Given the description of an element on the screen output the (x, y) to click on. 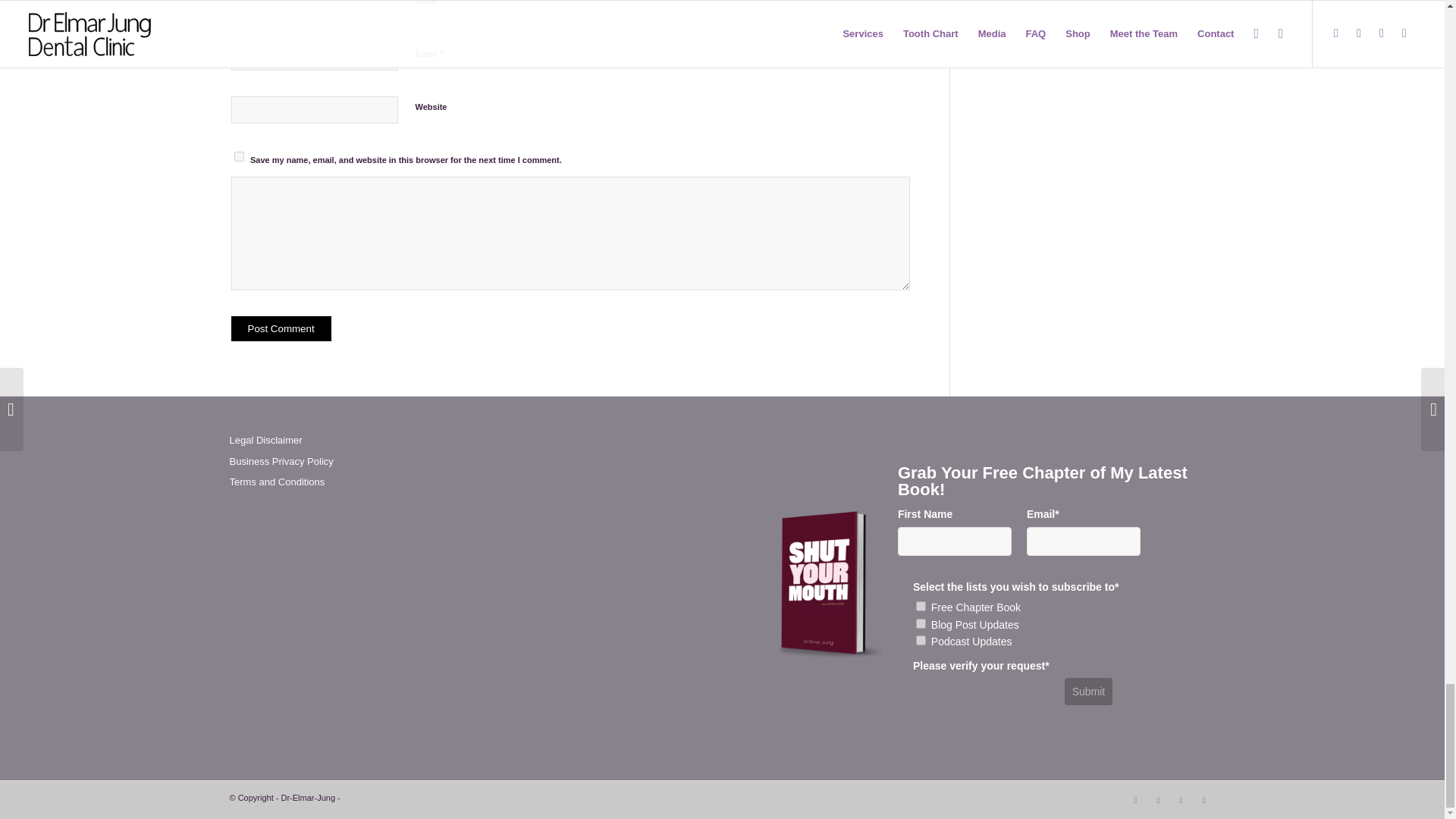
21 (920, 623)
20 (920, 640)
Post Comment (280, 328)
1 (920, 605)
yes (237, 156)
